Given the description of an element on the screen output the (x, y) to click on. 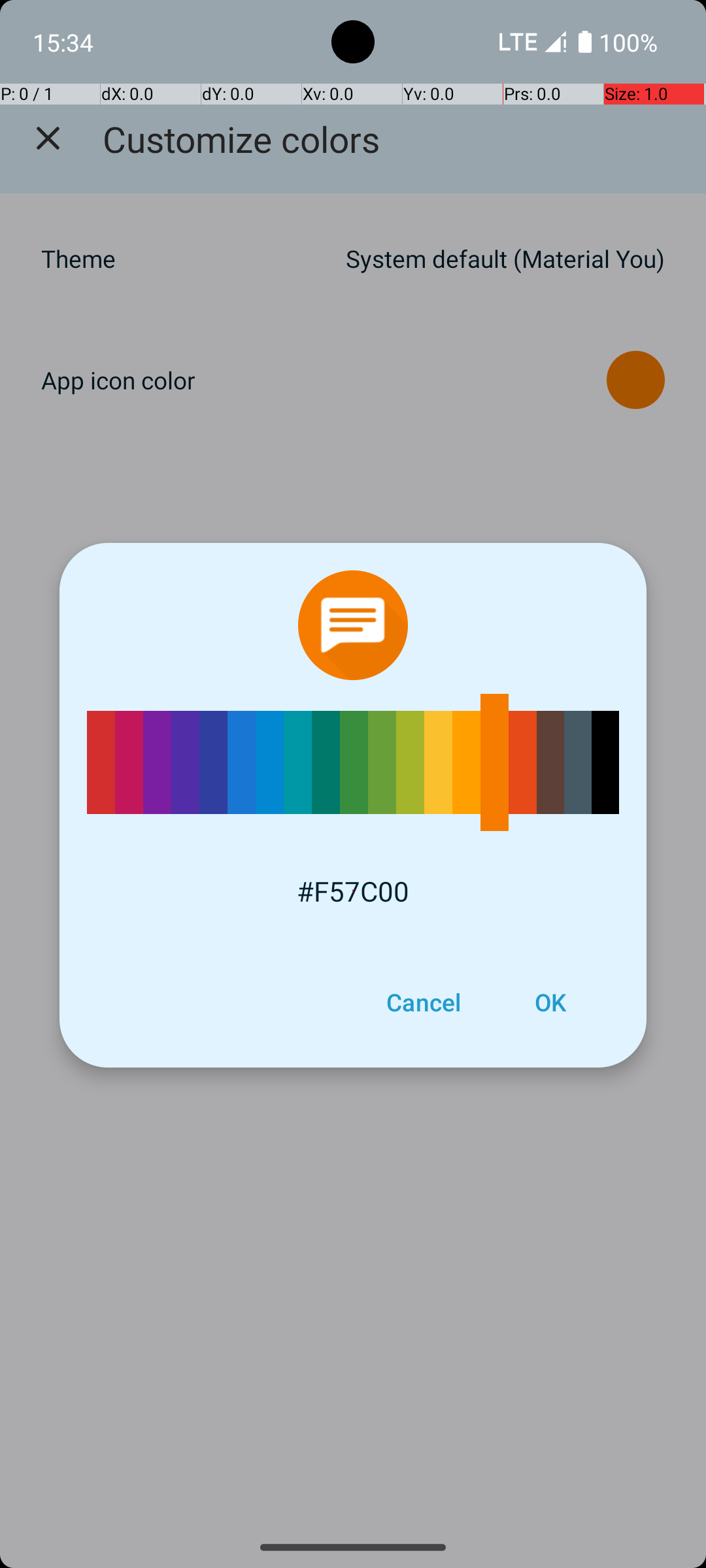
#F57C00 Element type: android.widget.TextView (352, 890)
